Given the description of an element on the screen output the (x, y) to click on. 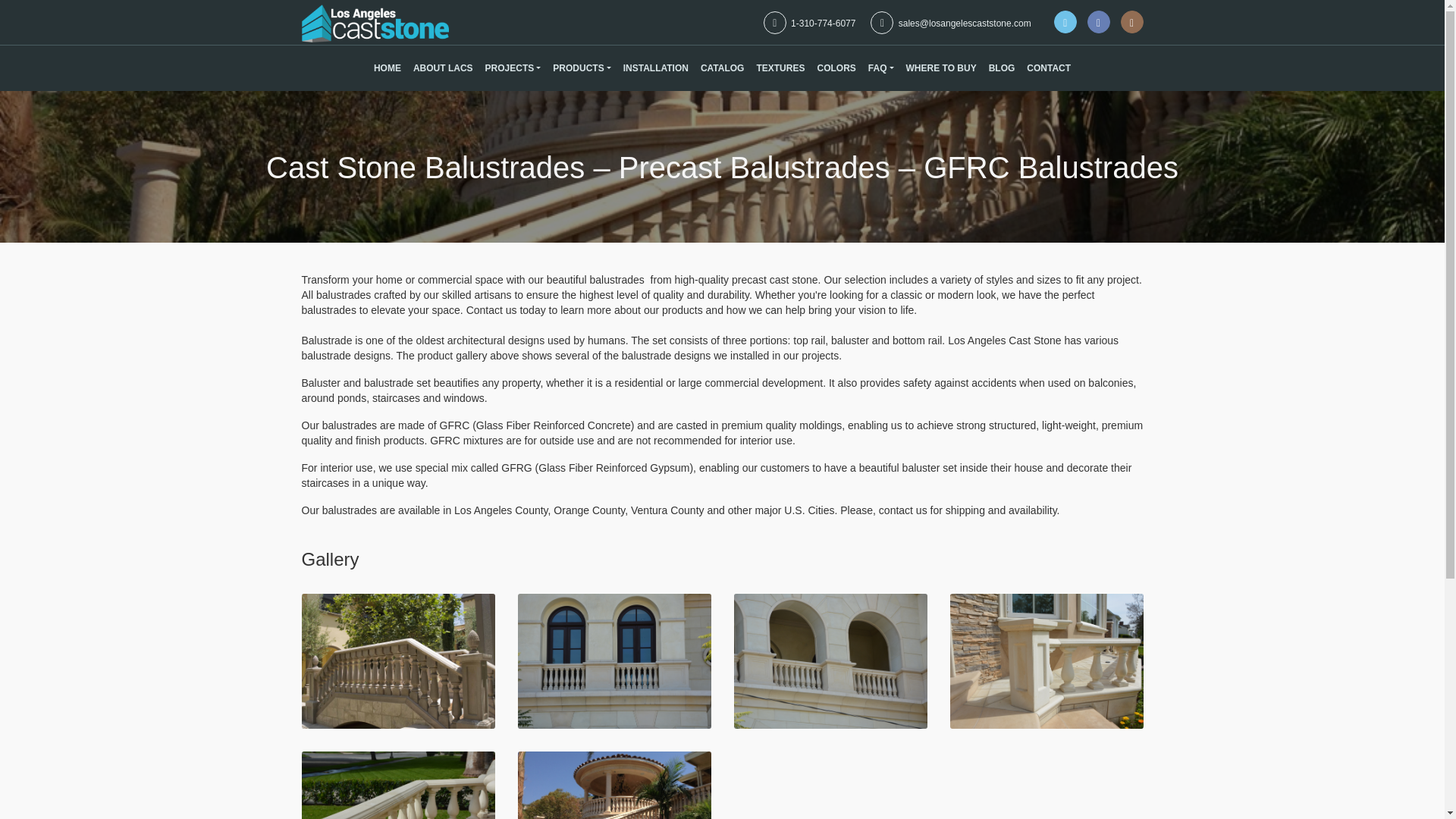
1-310-774-6077 (809, 23)
HOME (387, 67)
ABOUT LACS (443, 67)
PRODUCTS (581, 67)
PROJECTS (513, 67)
